Given the description of an element on the screen output the (x, y) to click on. 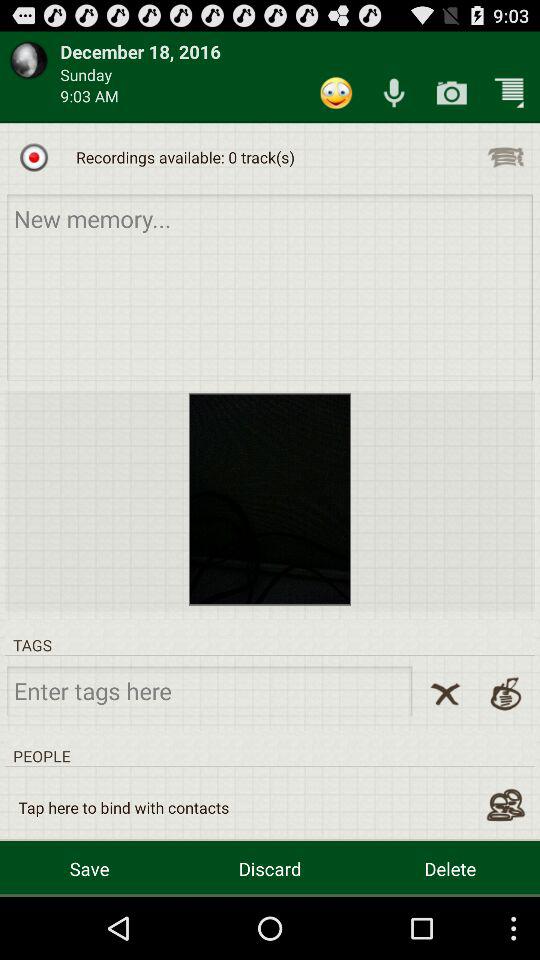
select icon below tags icon (445, 694)
